Given the description of an element on the screen output the (x, y) to click on. 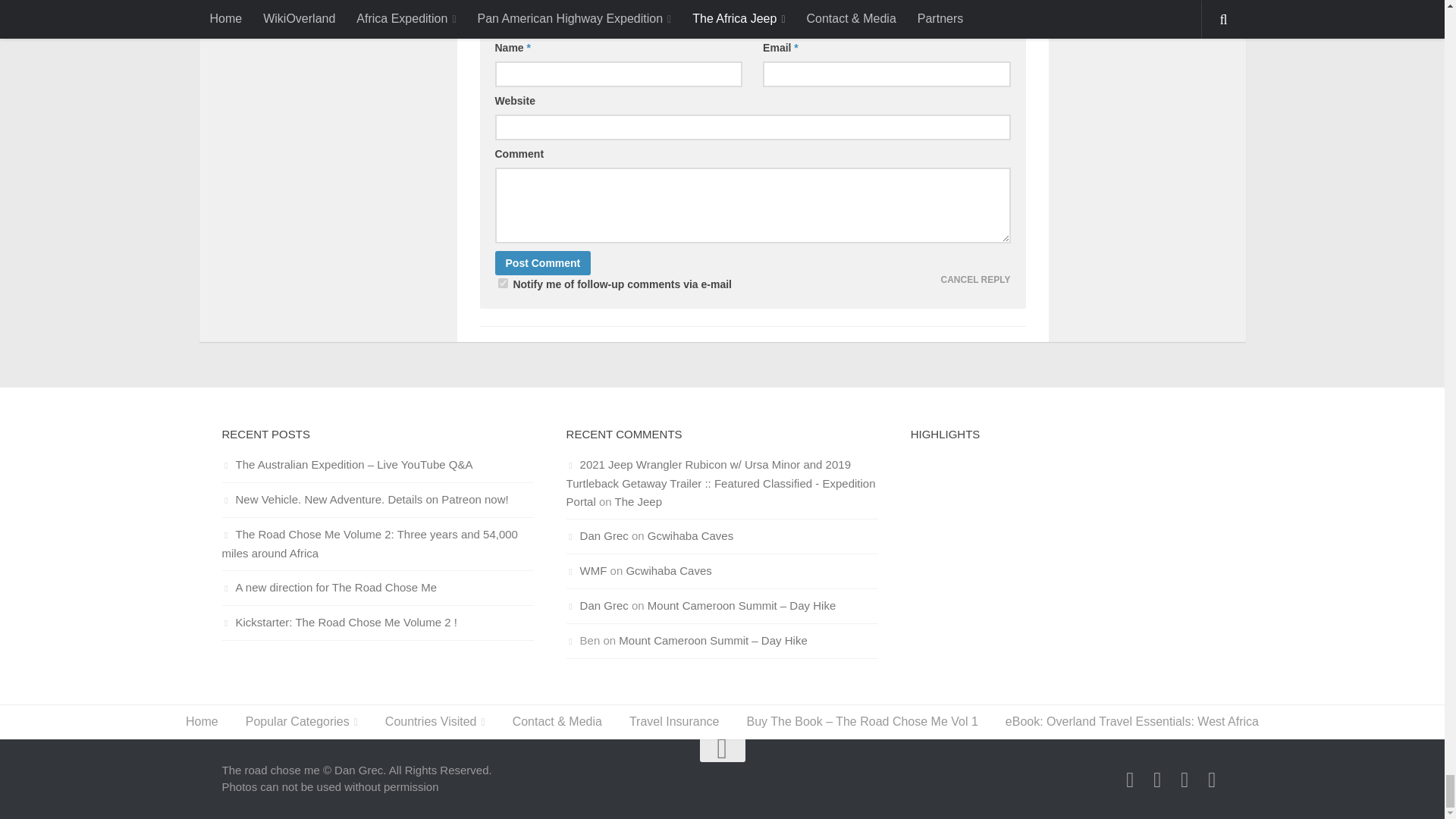
Post Comment (543, 262)
